Given the description of an element on the screen output the (x, y) to click on. 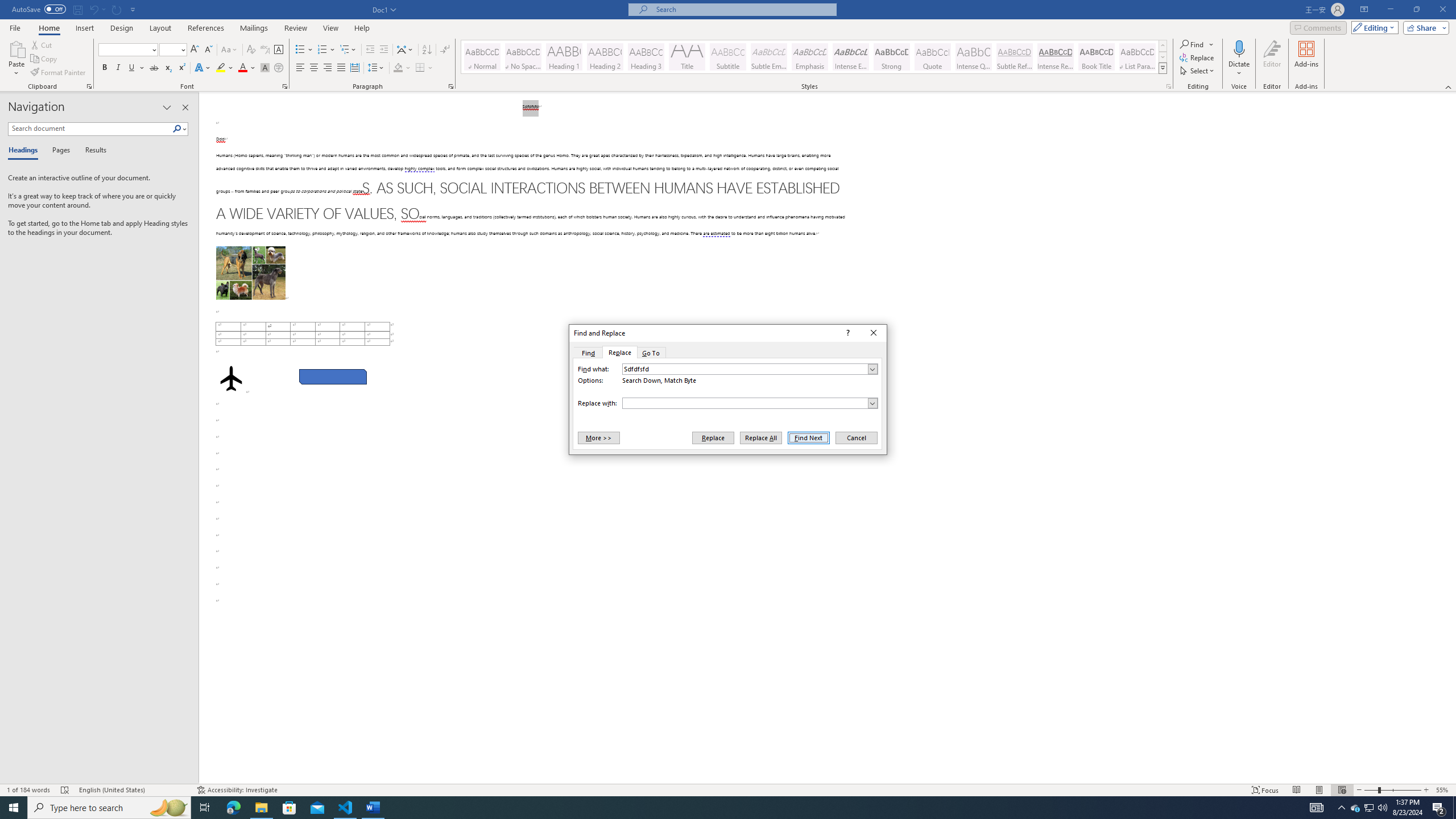
RichEdit Control (745, 403)
Shrink Font (208, 49)
Print Layout (1318, 790)
AutomationID: 4105 (1316, 807)
Airplane with solid fill (1355, 807)
Go To (230, 378)
Align Right (651, 352)
Font Size (327, 67)
Home (172, 49)
Asian Layout (48, 28)
Replace... (405, 49)
Bullets (1197, 56)
Text Highlight Color (304, 49)
